Given the description of an element on the screen output the (x, y) to click on. 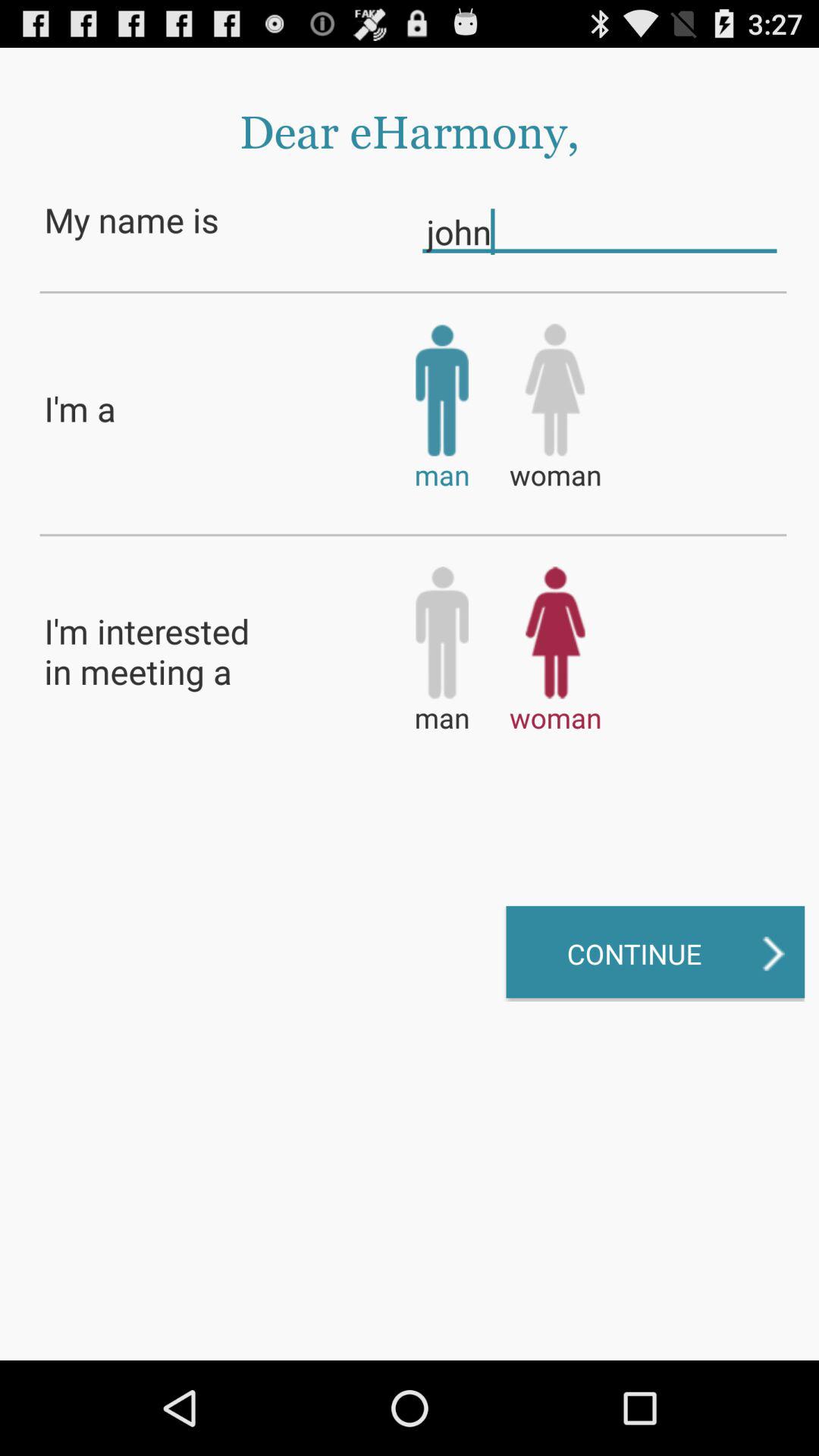
tap john icon (599, 231)
